Given the description of an element on the screen output the (x, y) to click on. 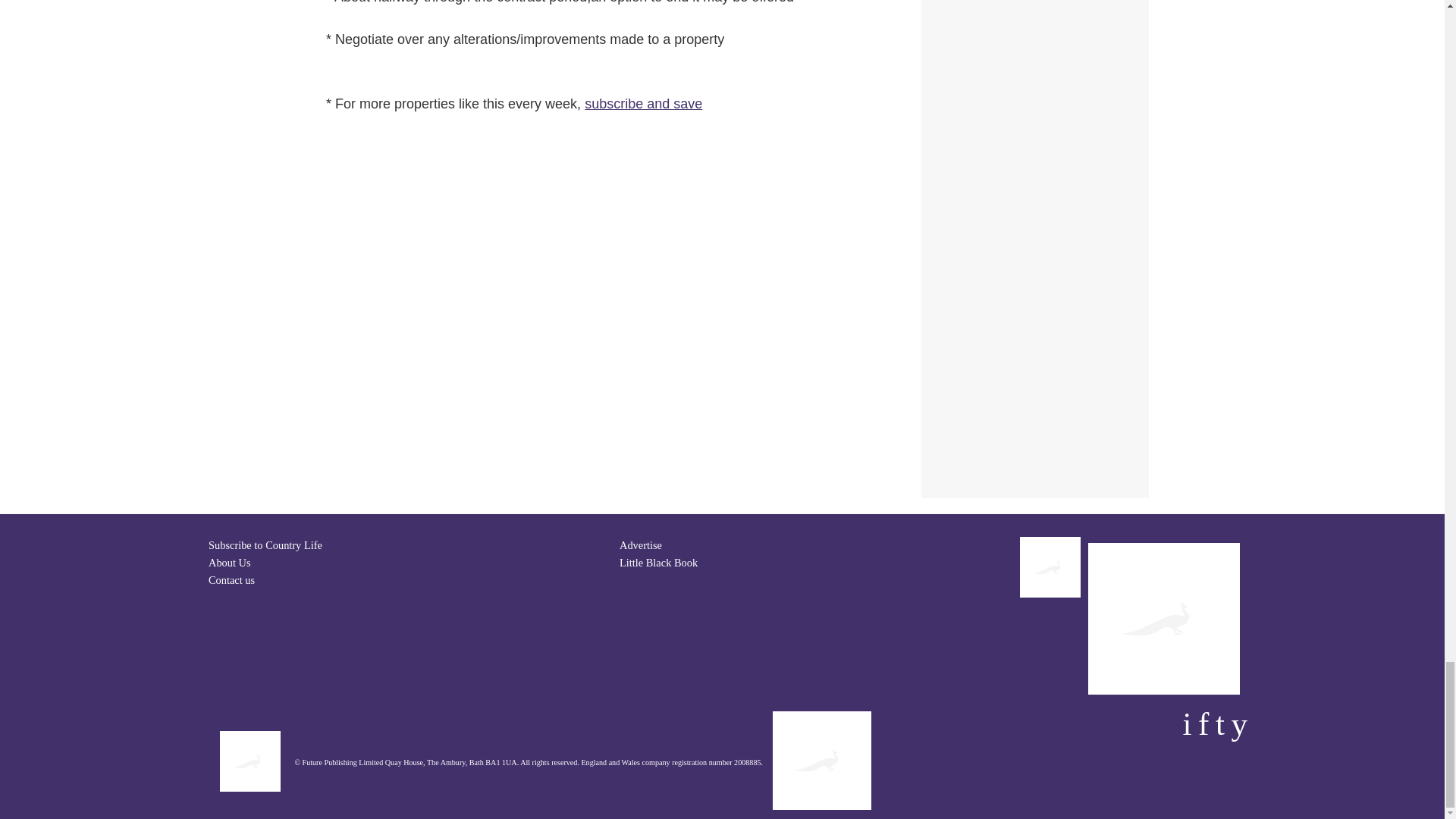
country life (643, 103)
